Given the description of an element on the screen output the (x, y) to click on. 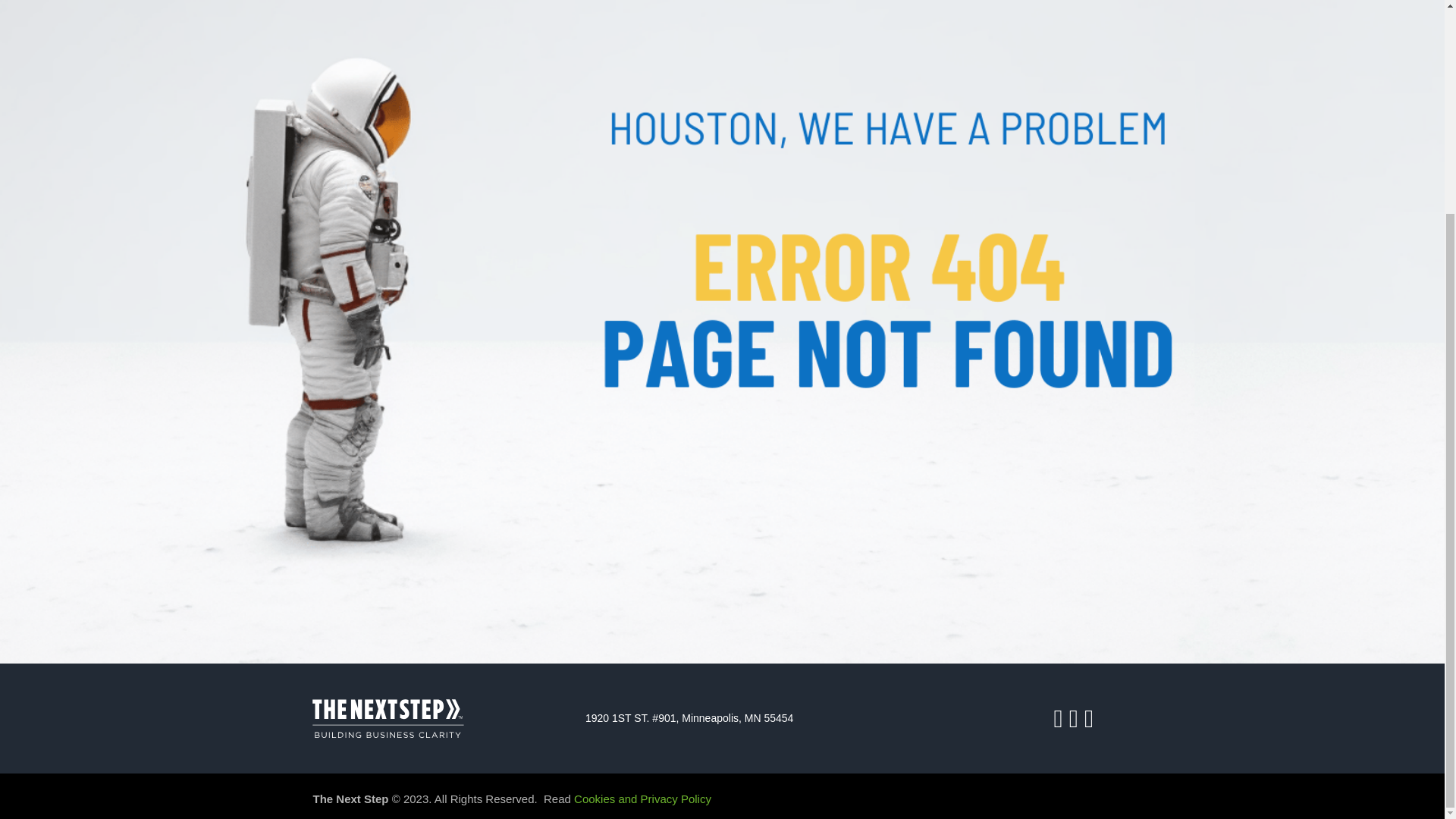
TheNextStep Logo White (386, 717)
